Given the description of an element on the screen output the (x, y) to click on. 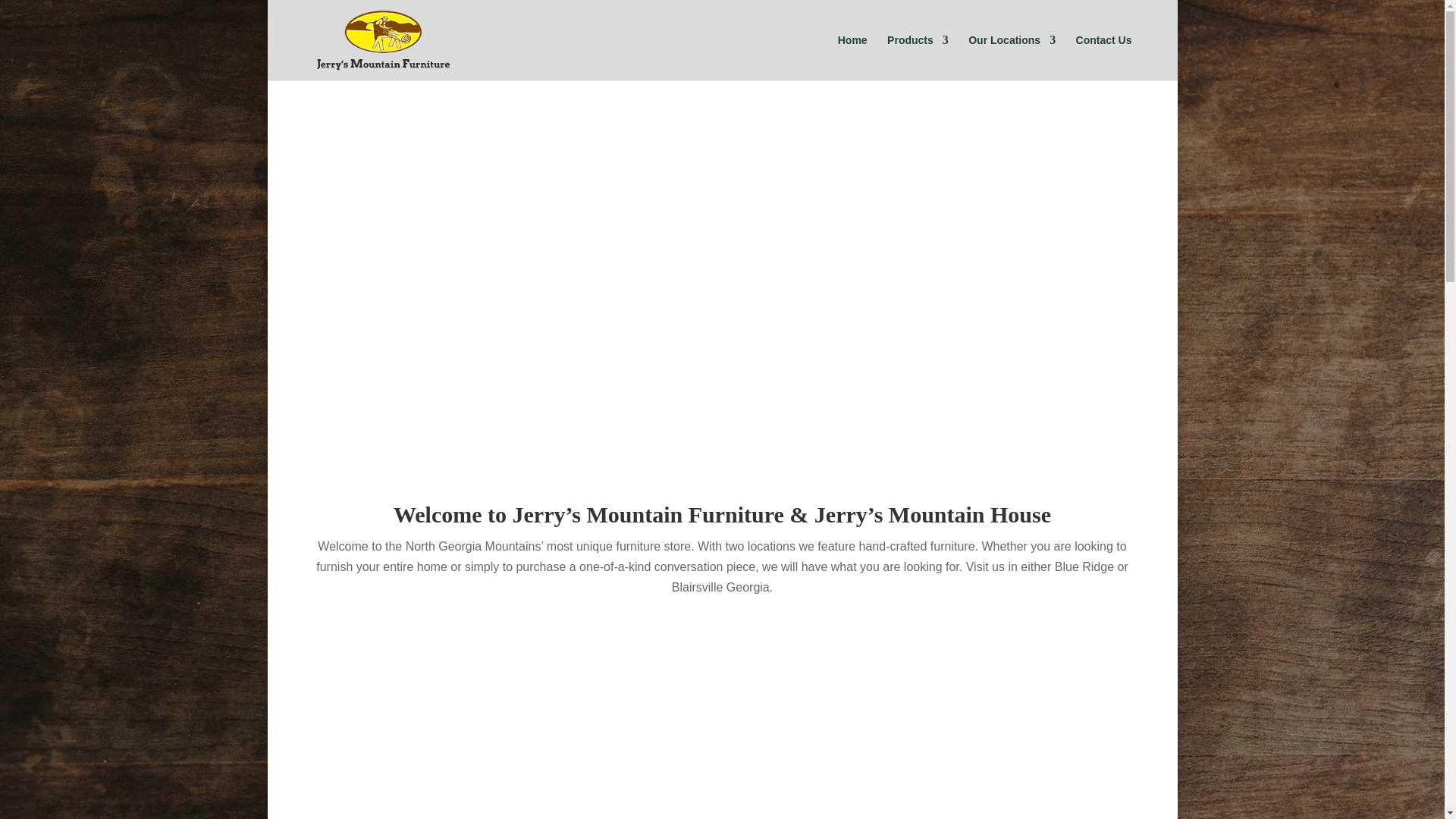
Our Locations (1011, 57)
Contact Us (1103, 57)
Products (917, 57)
